Given the description of an element on the screen output the (x, y) to click on. 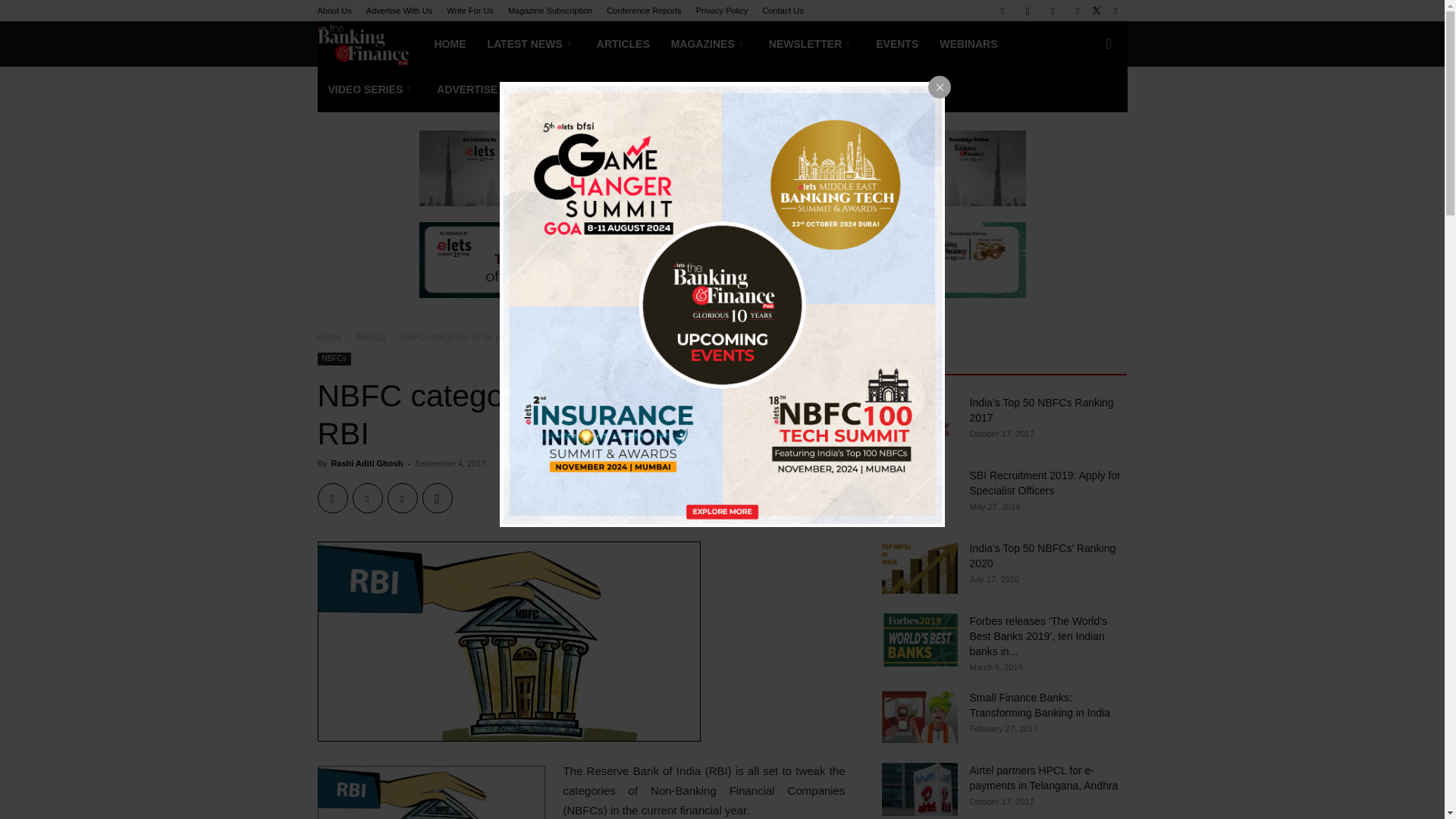
Linkedin (1052, 10)
View all posts in NBFCs (370, 337)
Twitter (366, 498)
Youtube (1114, 10)
Facebook (332, 498)
Pinterest (1077, 10)
Pinterest (401, 498)
Facebook (1002, 10)
Instagram (1027, 10)
